Given the description of an element on the screen output the (x, y) to click on. 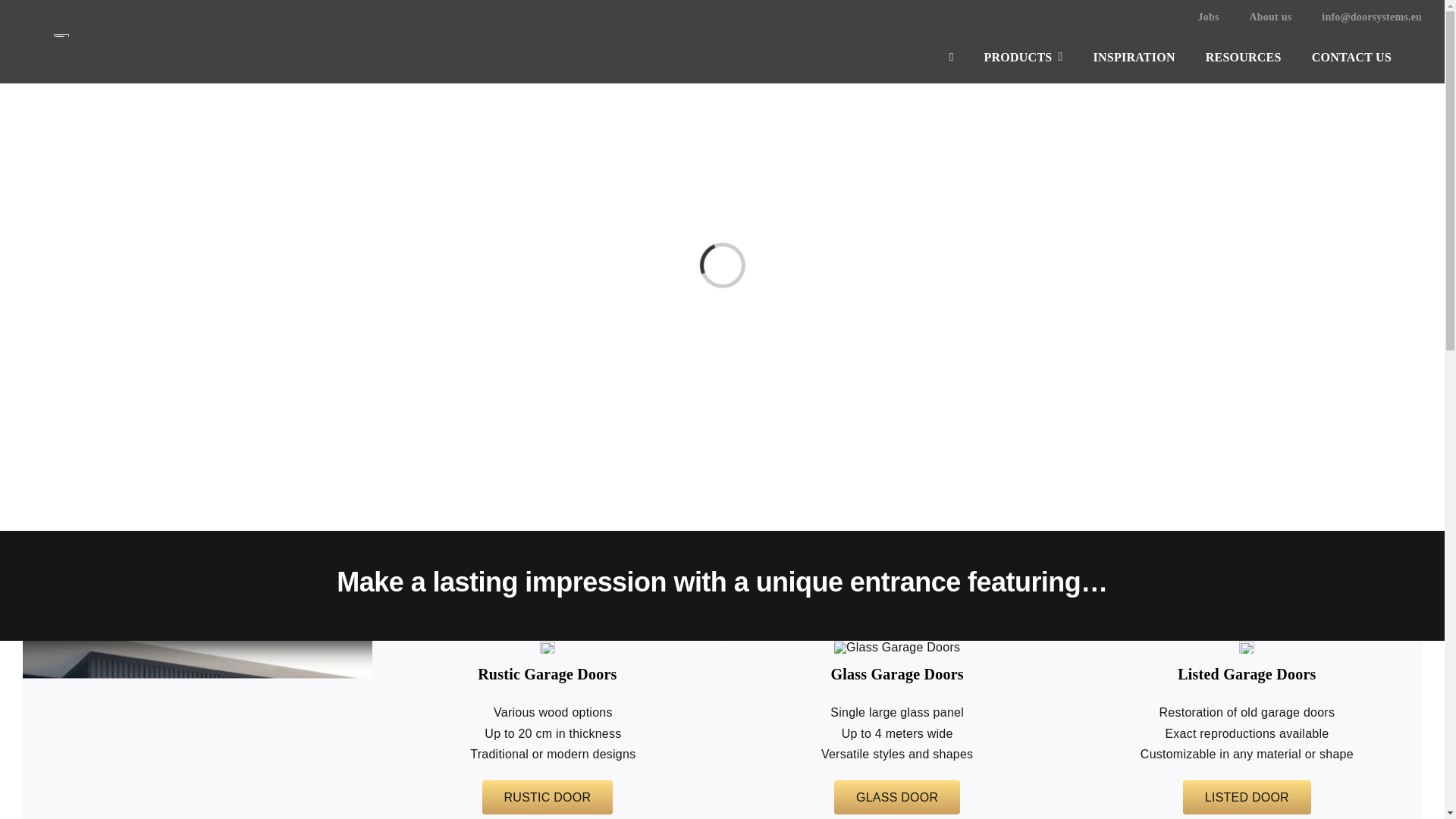
LISTED DOOR (1246, 797)
RUSTIC DOOR (546, 797)
Glass Garage Doors (896, 647)
PRODUCTS (1038, 51)
RESOURCES (1258, 51)
CONTACT US (1366, 51)
INSPIRATION (1149, 51)
Jobs (1192, 13)
GLASS DOOR (896, 797)
About us (1256, 13)
